Given the description of an element on the screen output the (x, y) to click on. 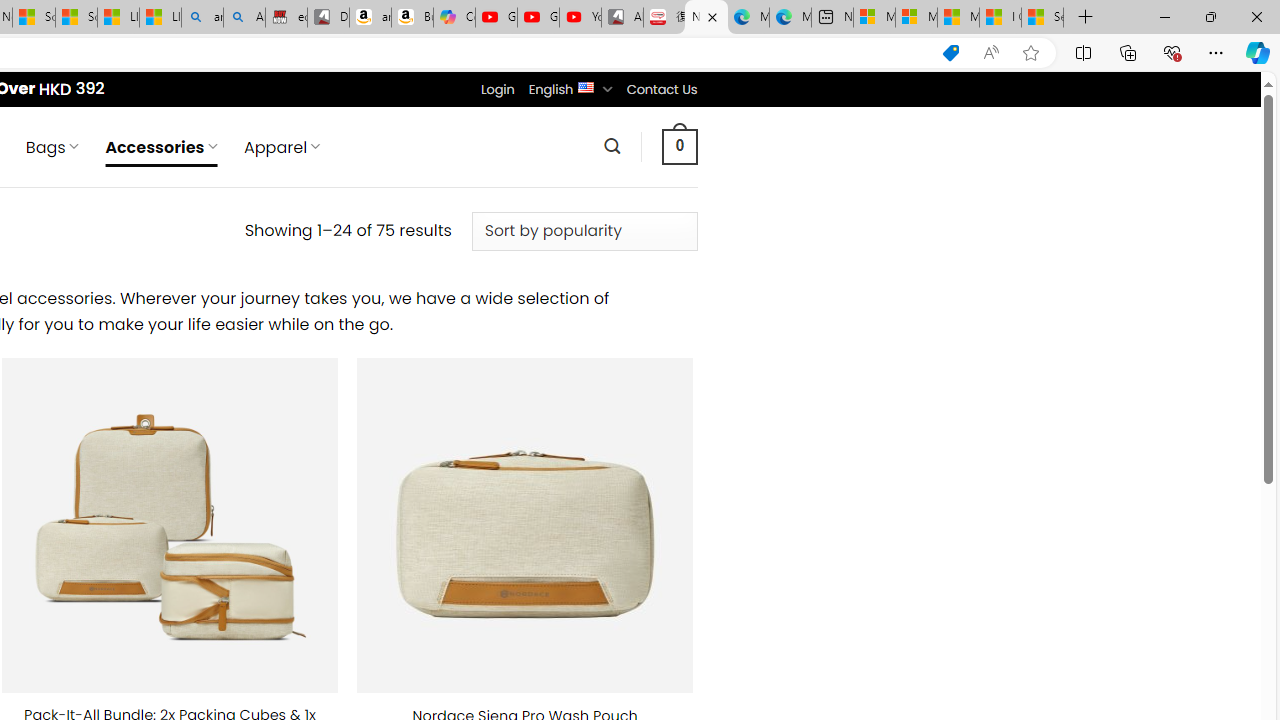
Shop order (584, 231)
Amazon Echo Dot PNG - Search Images (244, 17)
amazon.in/dp/B0CX59H5W7/?tag=gsmcom05-21 (369, 17)
All Cubot phones (621, 17)
